Given the description of an element on the screen output the (x, y) to click on. 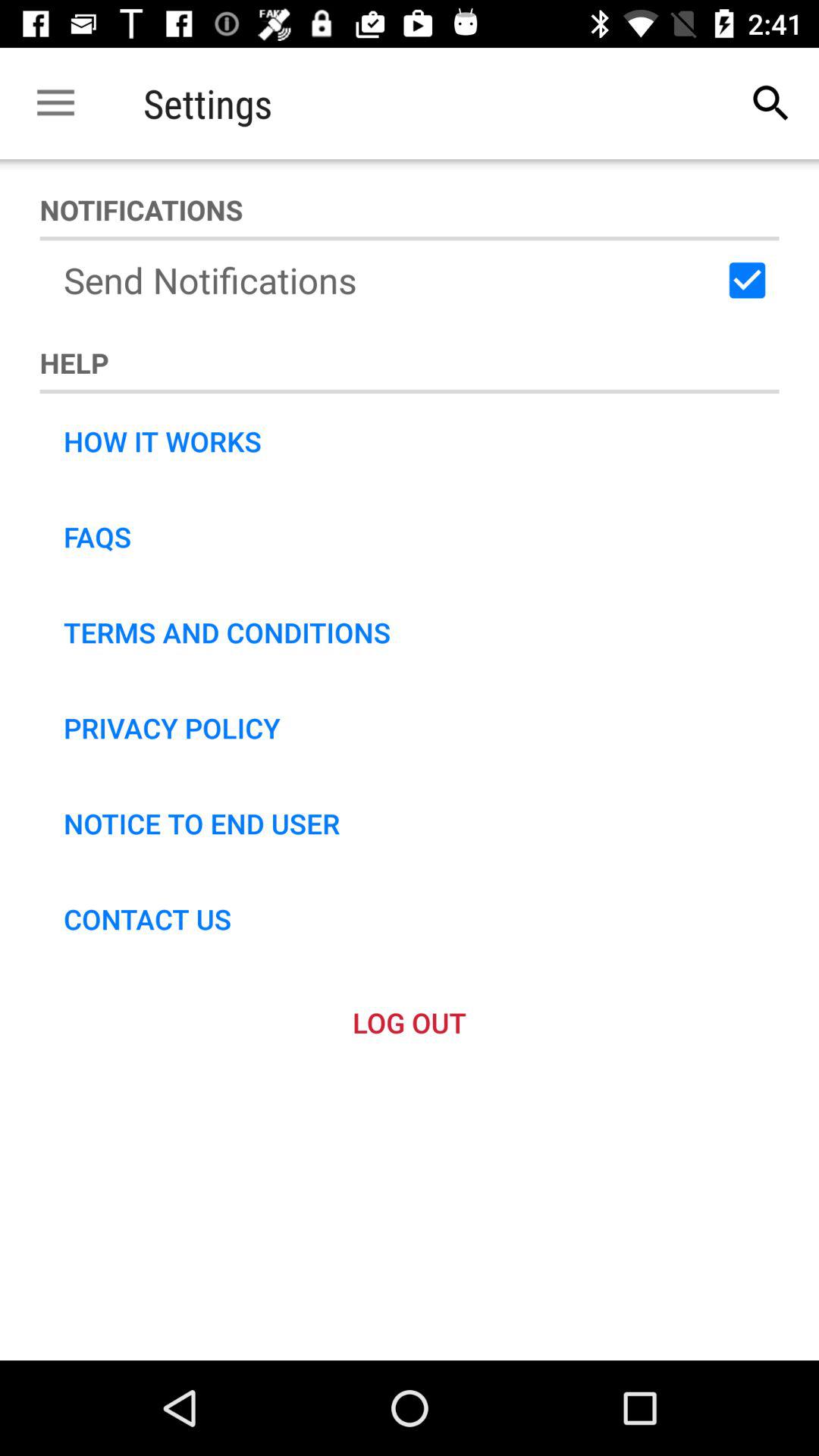
press faqs icon (97, 536)
